Given the description of an element on the screen output the (x, y) to click on. 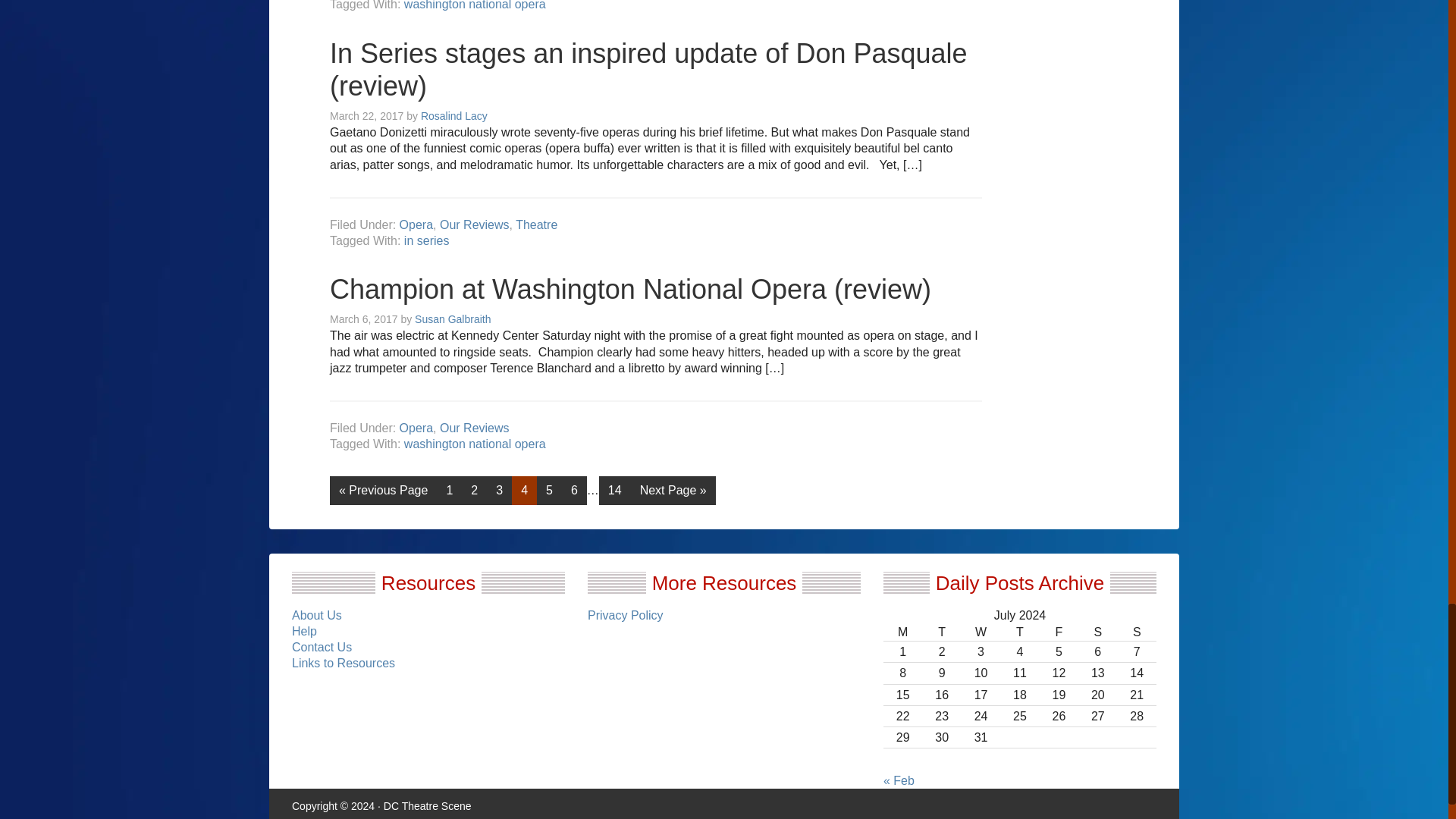
Friday (1058, 632)
Tuesday (940, 632)
Thursday (1019, 632)
Monday (902, 632)
Saturday (1097, 632)
Sunday (1137, 632)
Wednesday (980, 632)
